Given the description of an element on the screen output the (x, y) to click on. 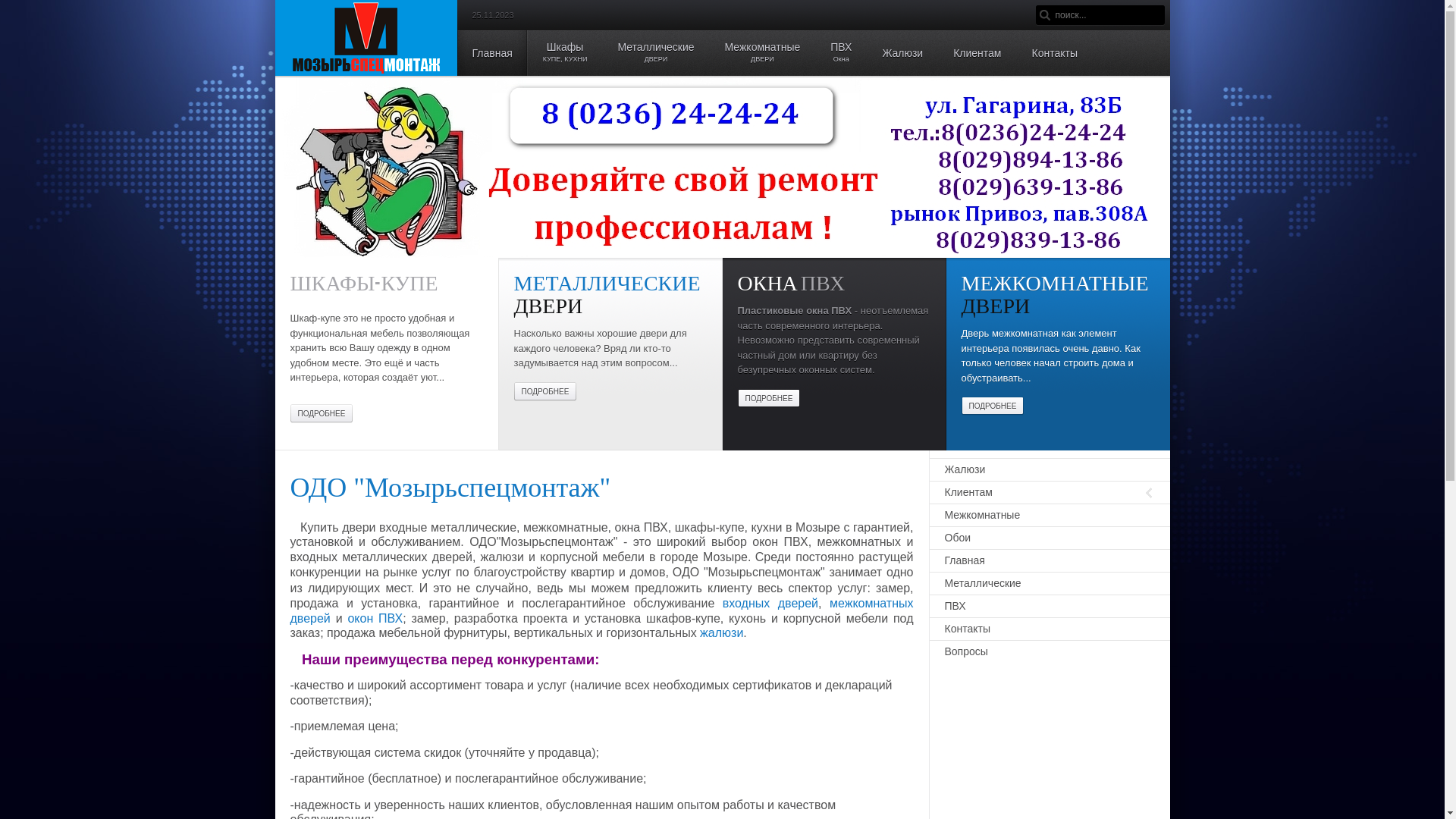
Home Element type: hover (365, 37)
Search Element type: text (1045, 15)
Reset Element type: text (8, 9)
